Given the description of an element on the screen output the (x, y) to click on. 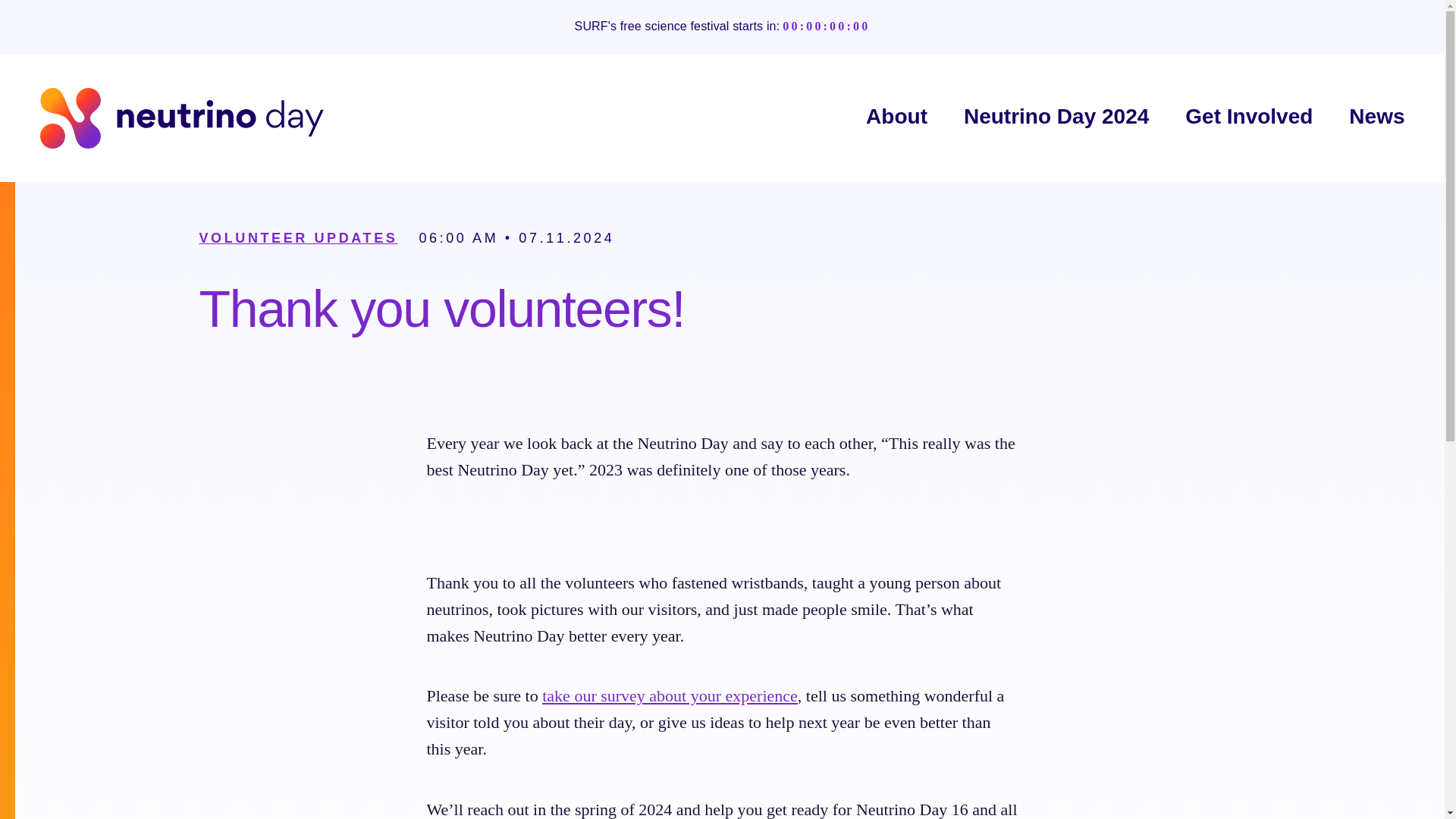
News (1377, 116)
Get Involved (1249, 116)
About (896, 116)
Neutrino Day 2024 (1055, 116)
VOLUNTEER UPDATES (297, 237)
take our survey about your experience (669, 695)
Home (181, 117)
Skip to main content (2, 2)
